Given the description of an element on the screen output the (x, y) to click on. 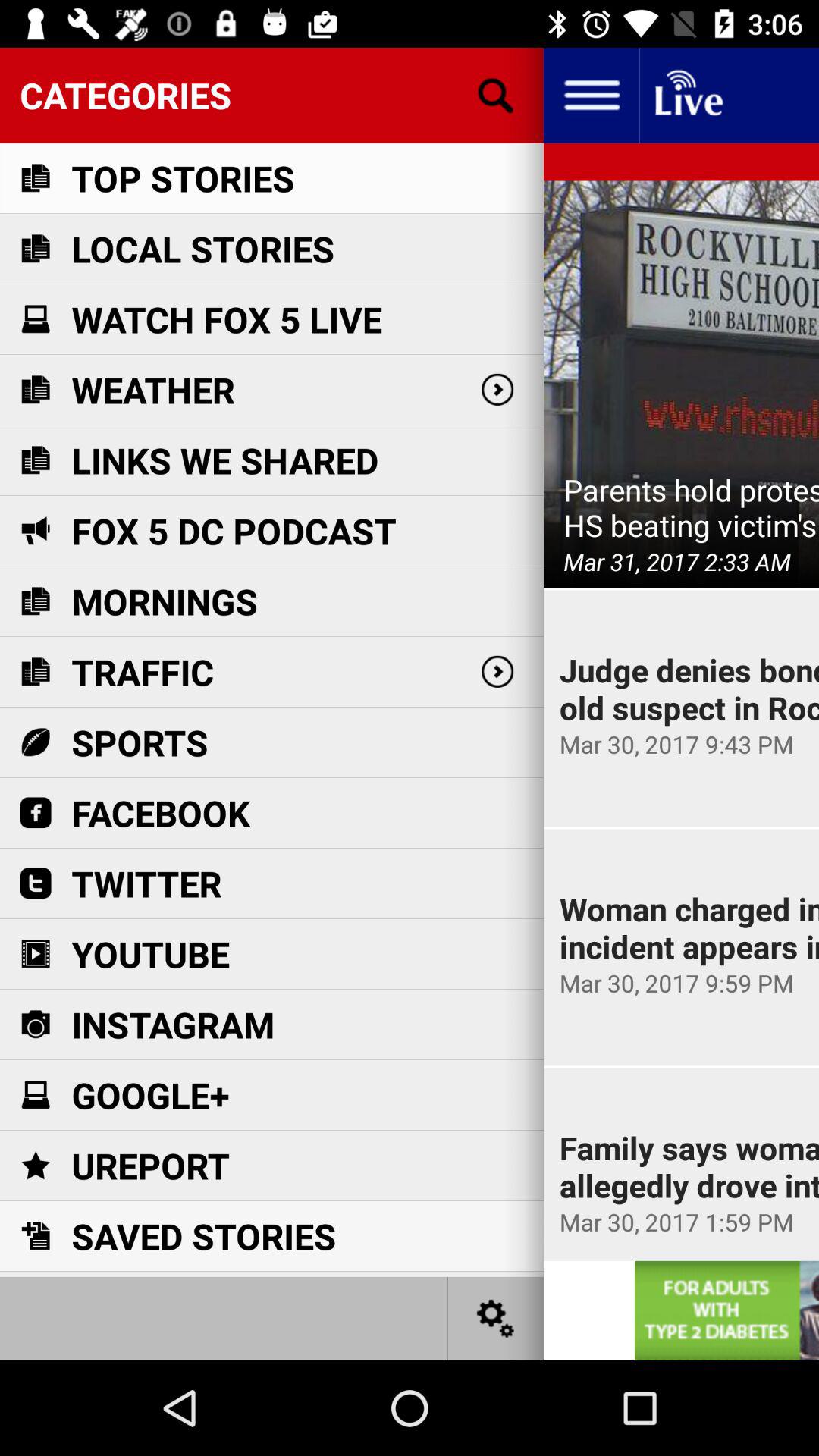
open info (591, 95)
